Given the description of an element on the screen output the (x, y) to click on. 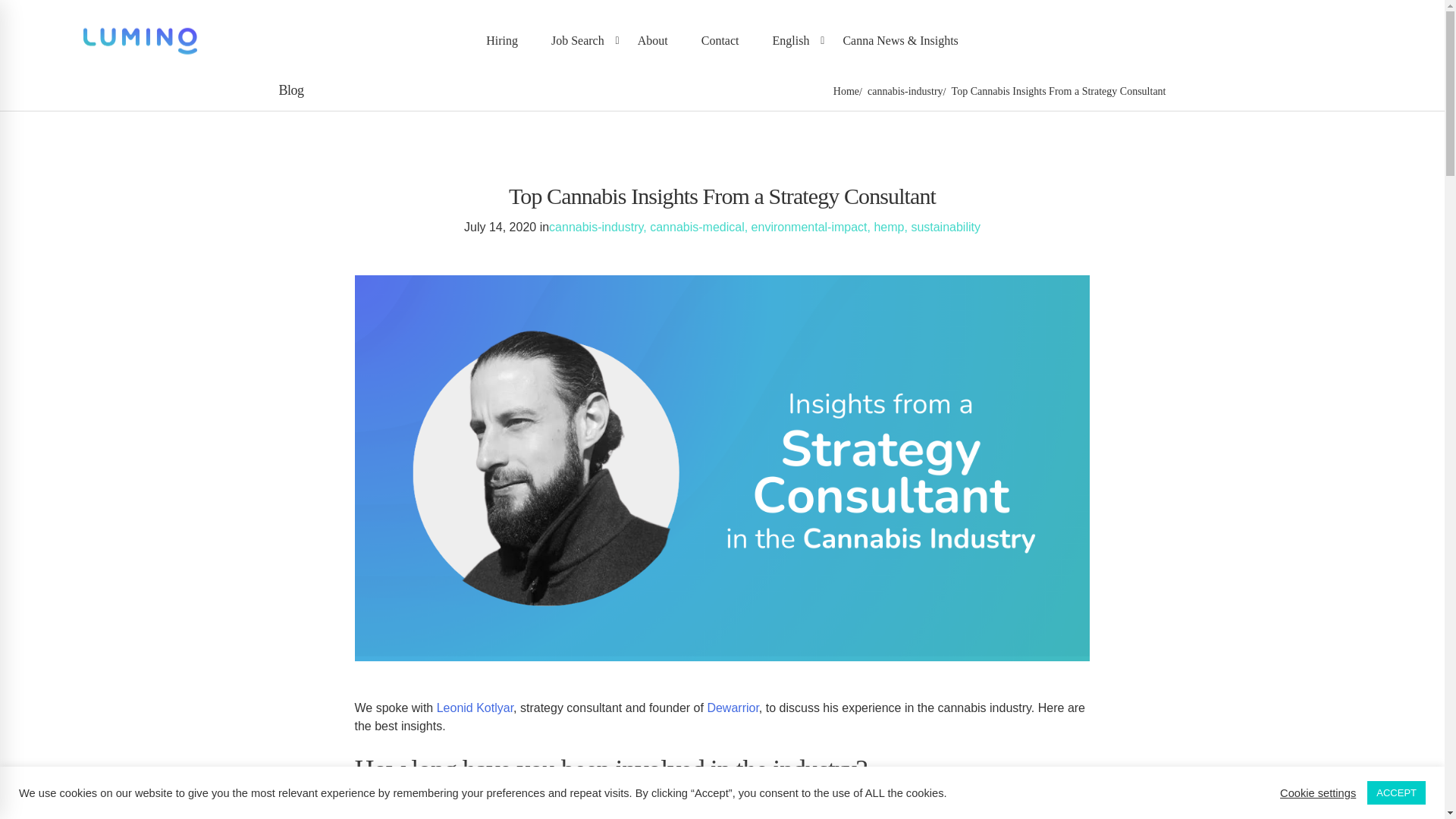
cannabis-industry (595, 226)
Leonid Kotlyar (474, 707)
Dewarrior (732, 707)
Contact (719, 40)
hemp (888, 226)
Hiring (501, 40)
sustainability (945, 226)
Home (845, 91)
cannabis-medical (696, 226)
cannabis-industry (905, 91)
environmental-impact (809, 226)
About (652, 40)
